Given the description of an element on the screen output the (x, y) to click on. 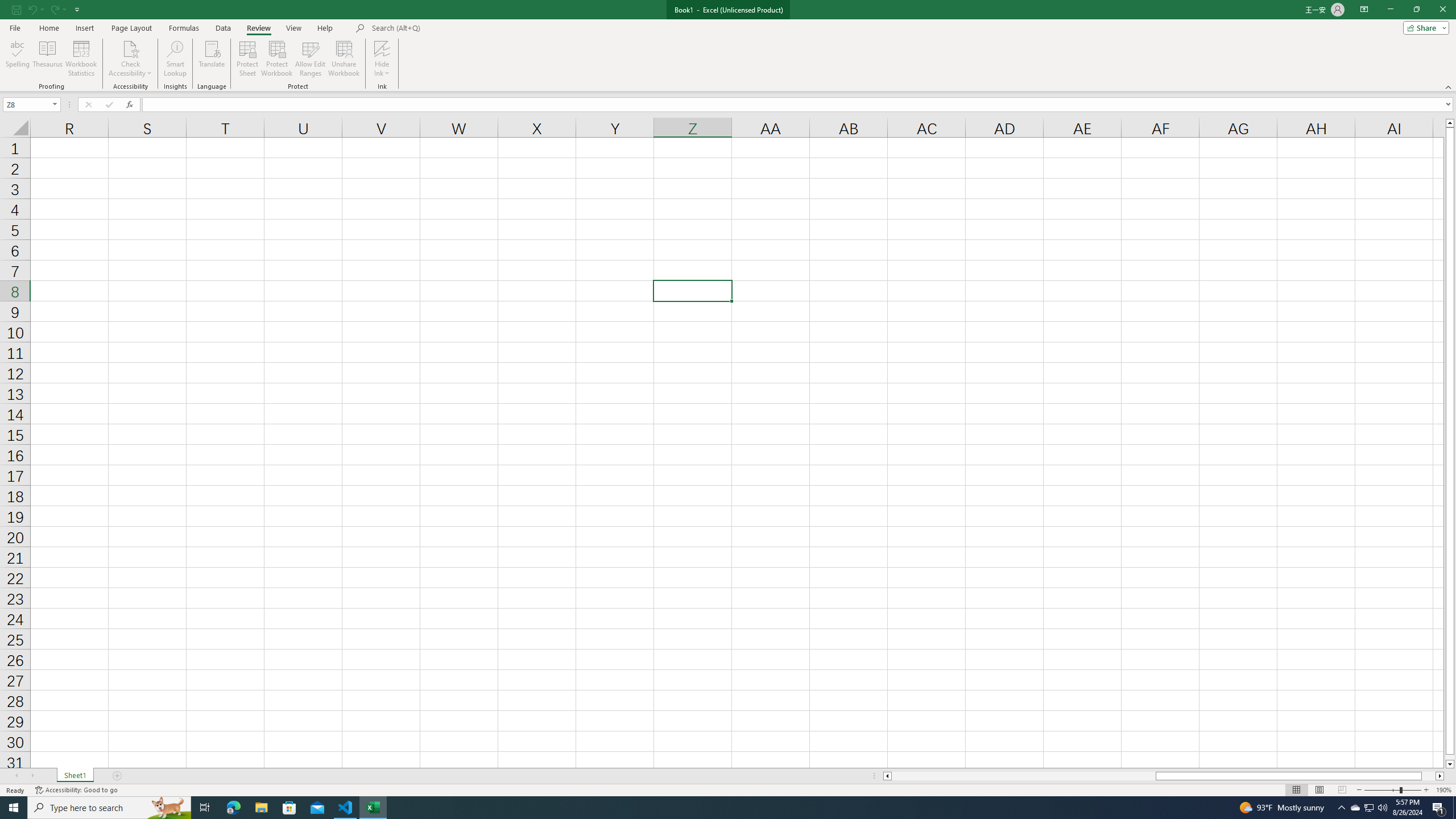
Add Sheet (117, 775)
Spelling... (17, 58)
Zoom In (1426, 790)
Undo (31, 9)
Ribbon Display Options (1364, 9)
Class: MsoCommandBar (728, 45)
Help (325, 28)
Minimize (1390, 9)
Normal (1296, 790)
Microsoft search (450, 28)
Review (258, 28)
Quick Access Toolbar (46, 9)
Name Box (30, 104)
Workbook Statistics (81, 58)
